Given the description of an element on the screen output the (x, y) to click on. 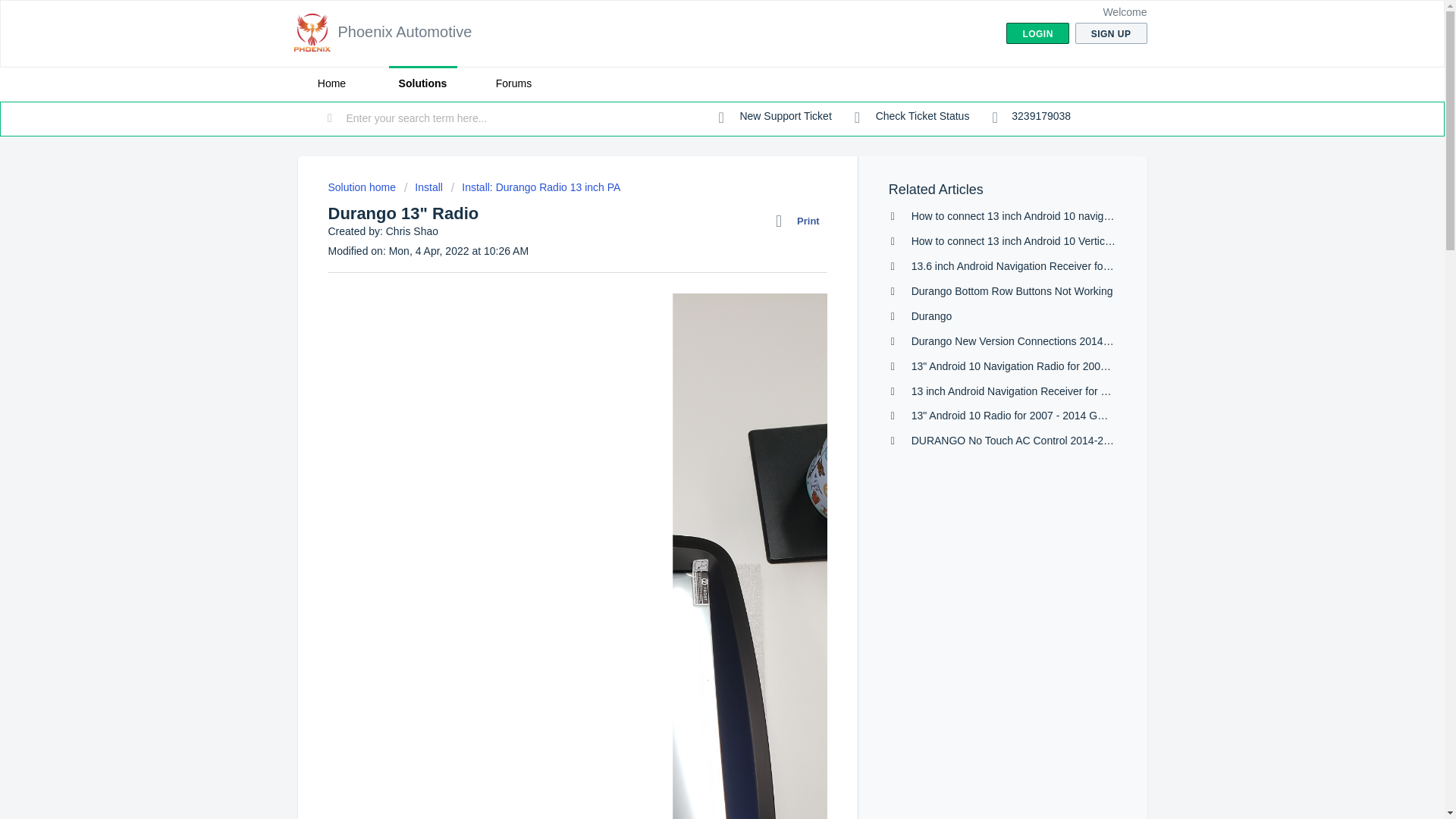
Durango New Version Connections 2014-2018 (1021, 340)
Install: Durango Radio 13 inch PA (536, 186)
13" Android 10 Radio for 2007 - 2014 GMC and Chevy vehicles (1060, 415)
3239179038 (1030, 117)
Home (331, 83)
Solution home (362, 186)
LOGIN (1037, 33)
SIGN UP (1111, 33)
New Support Ticket (775, 116)
New support ticket (775, 116)
Print (801, 220)
